Given the description of an element on the screen output the (x, y) to click on. 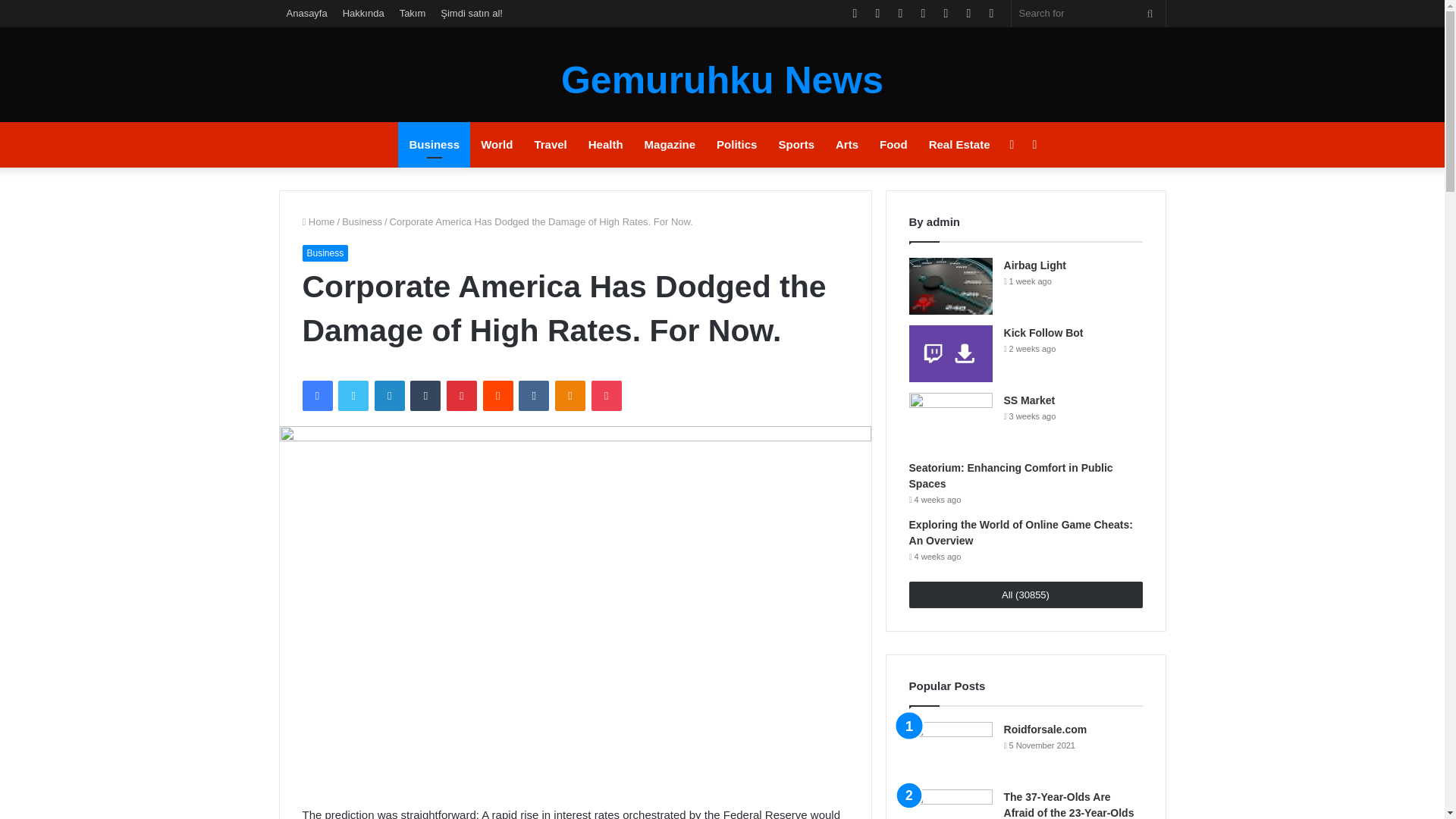
Sports (796, 144)
World (496, 144)
Politics (736, 144)
Food (893, 144)
LinkedIn (389, 395)
Pocket (606, 395)
Tumblr (425, 395)
Health (605, 144)
Real Estate (959, 144)
Pocket (606, 395)
Business (324, 252)
Twitter (352, 395)
Facebook (316, 395)
Magazine (669, 144)
Pinterest (461, 395)
